Given the description of an element on the screen output the (x, y) to click on. 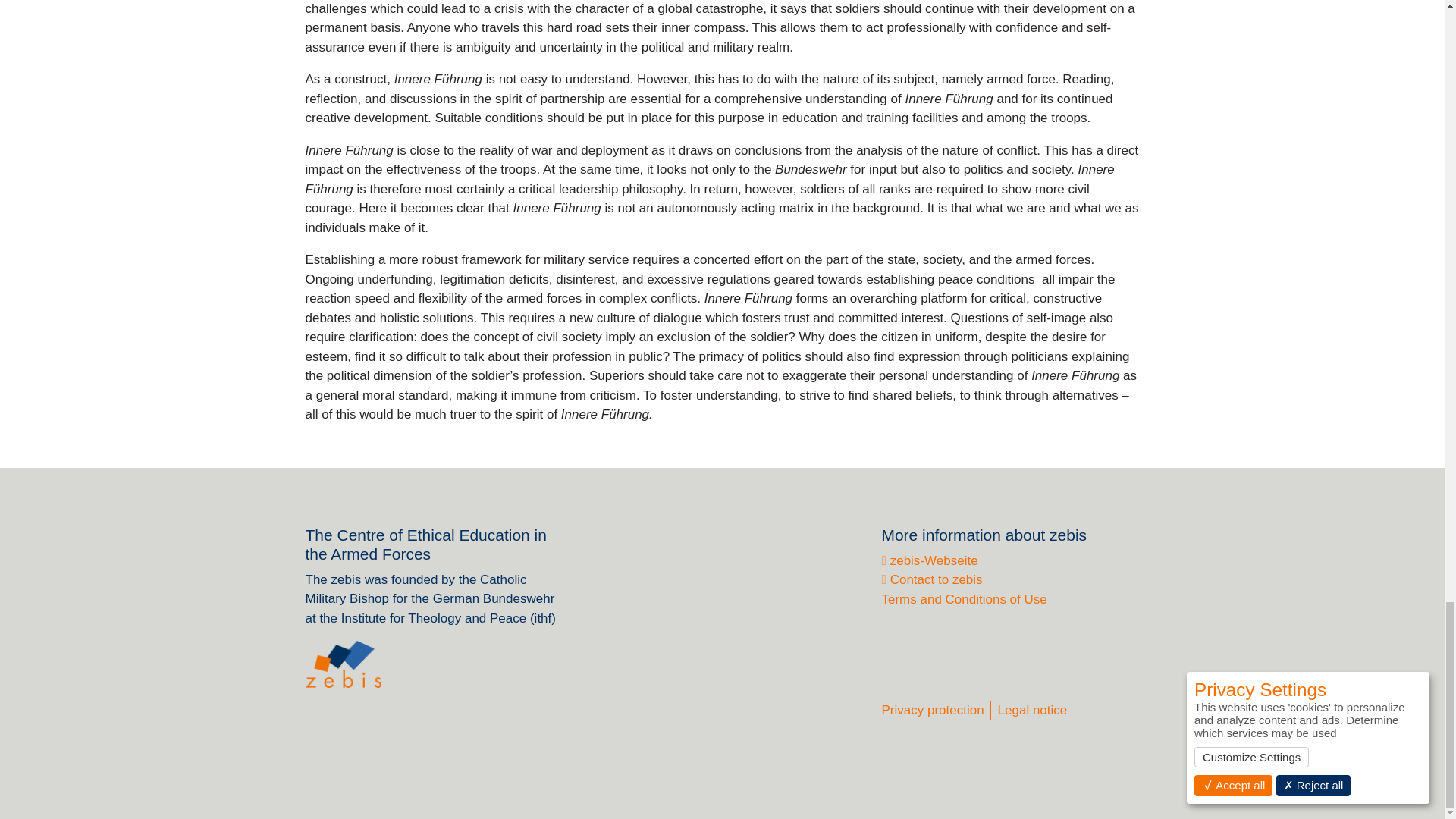
zebis-Webseite (928, 560)
Privacy protection (932, 709)
Legal notice (1032, 709)
Terms and Conditions of Use (963, 599)
Contact to zebis (930, 579)
